Given the description of an element on the screen output the (x, y) to click on. 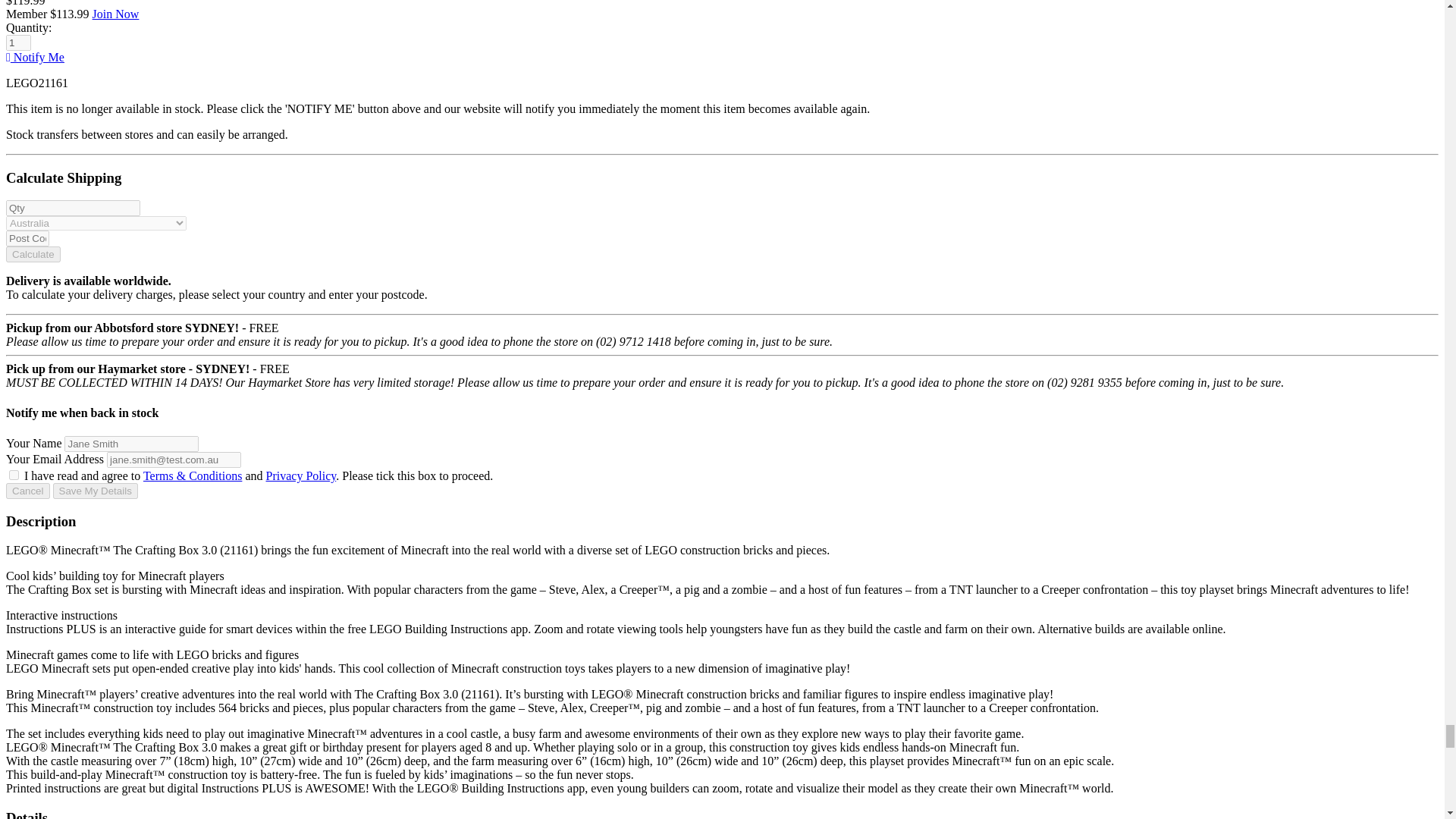
1 (17, 42)
y (13, 474)
Calculate (33, 254)
Cancel (27, 490)
Save My Details (95, 490)
